Given the description of an element on the screen output the (x, y) to click on. 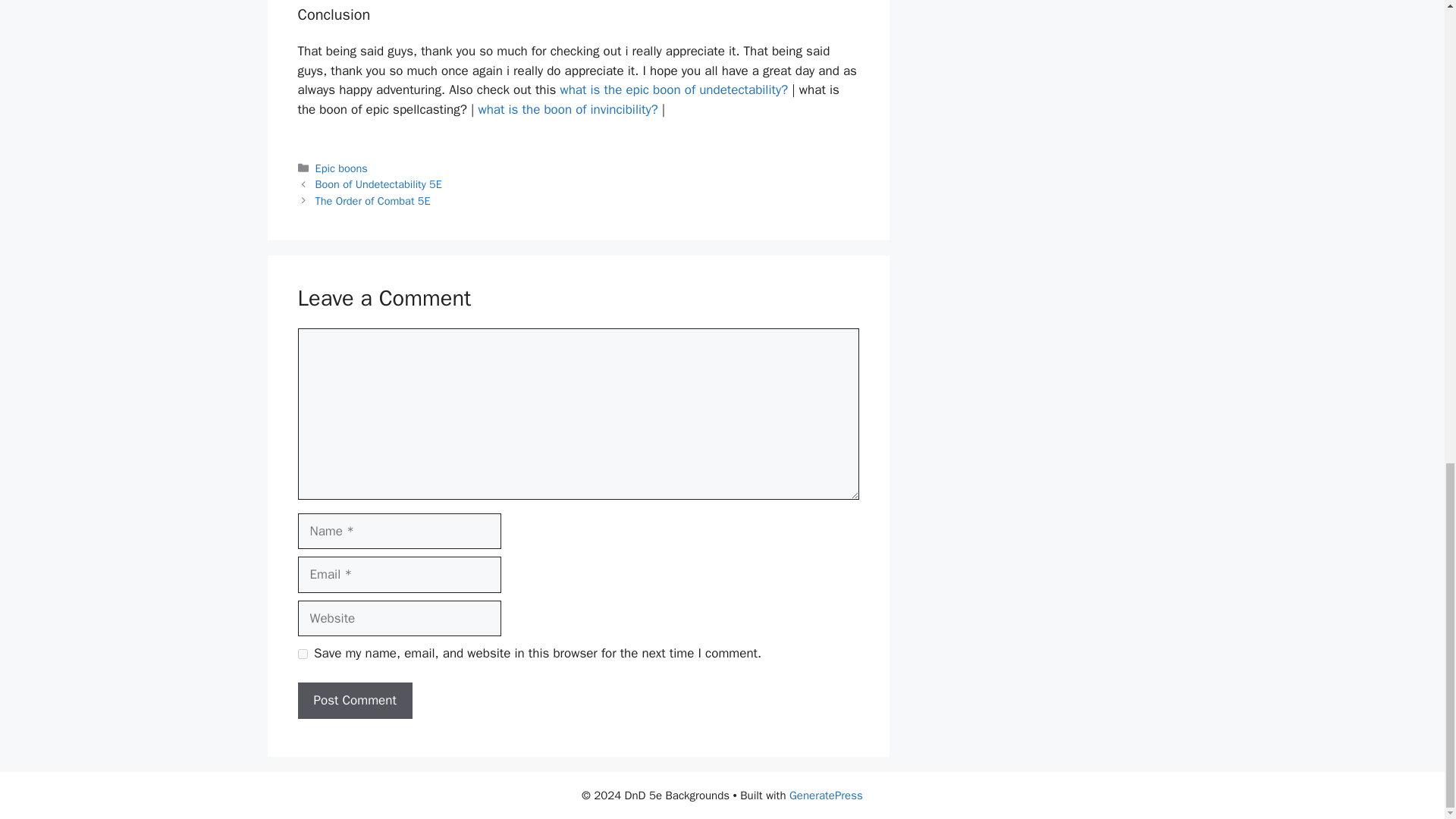
Epic boons (341, 168)
what is the boon of invincibility? (567, 109)
what is the epic boon of undetectability? (673, 89)
Scroll back to top (1406, 464)
Post Comment (354, 700)
The Order of Combat 5E (372, 201)
yes (302, 654)
Post Comment (354, 700)
Boon of Undetectability 5E (378, 183)
